Given the description of an element on the screen output the (x, y) to click on. 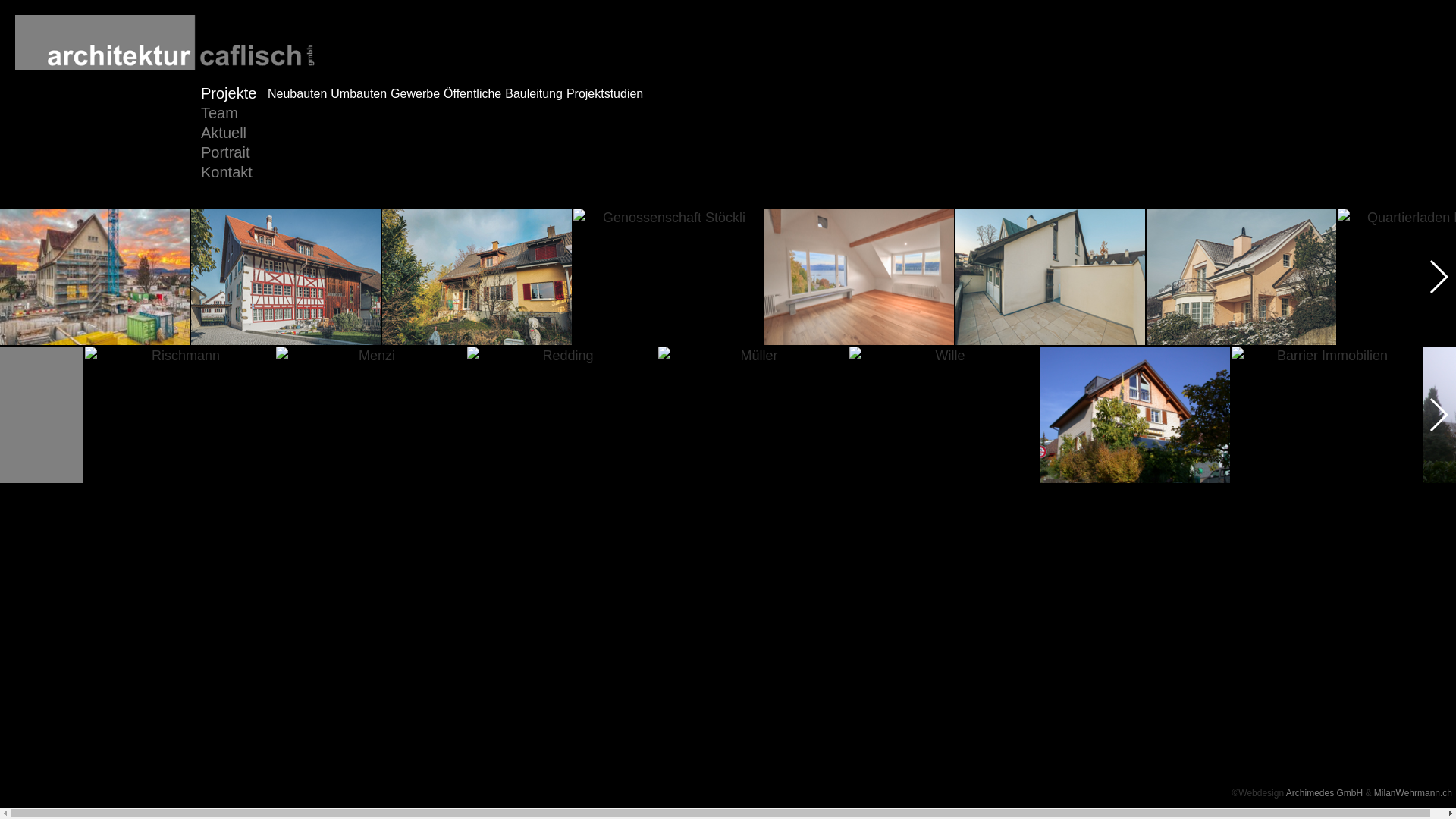
Archimedes GmbH Element type: text (1324, 792)
Projektstudien Element type: text (604, 93)
Aktuell Element type: text (245, 133)
Neubauten Element type: text (296, 93)
MilanWehrmann.ch Element type: text (1413, 792)
Umbauten Element type: text (358, 93)
Portrait Element type: text (245, 153)
Projekte Element type: text (233, 93)
Team Element type: text (245, 113)
Bauleitung Element type: text (533, 93)
Kontakt Element type: text (245, 172)
Gewerbe Element type: text (414, 93)
